Given the description of an element on the screen output the (x, y) to click on. 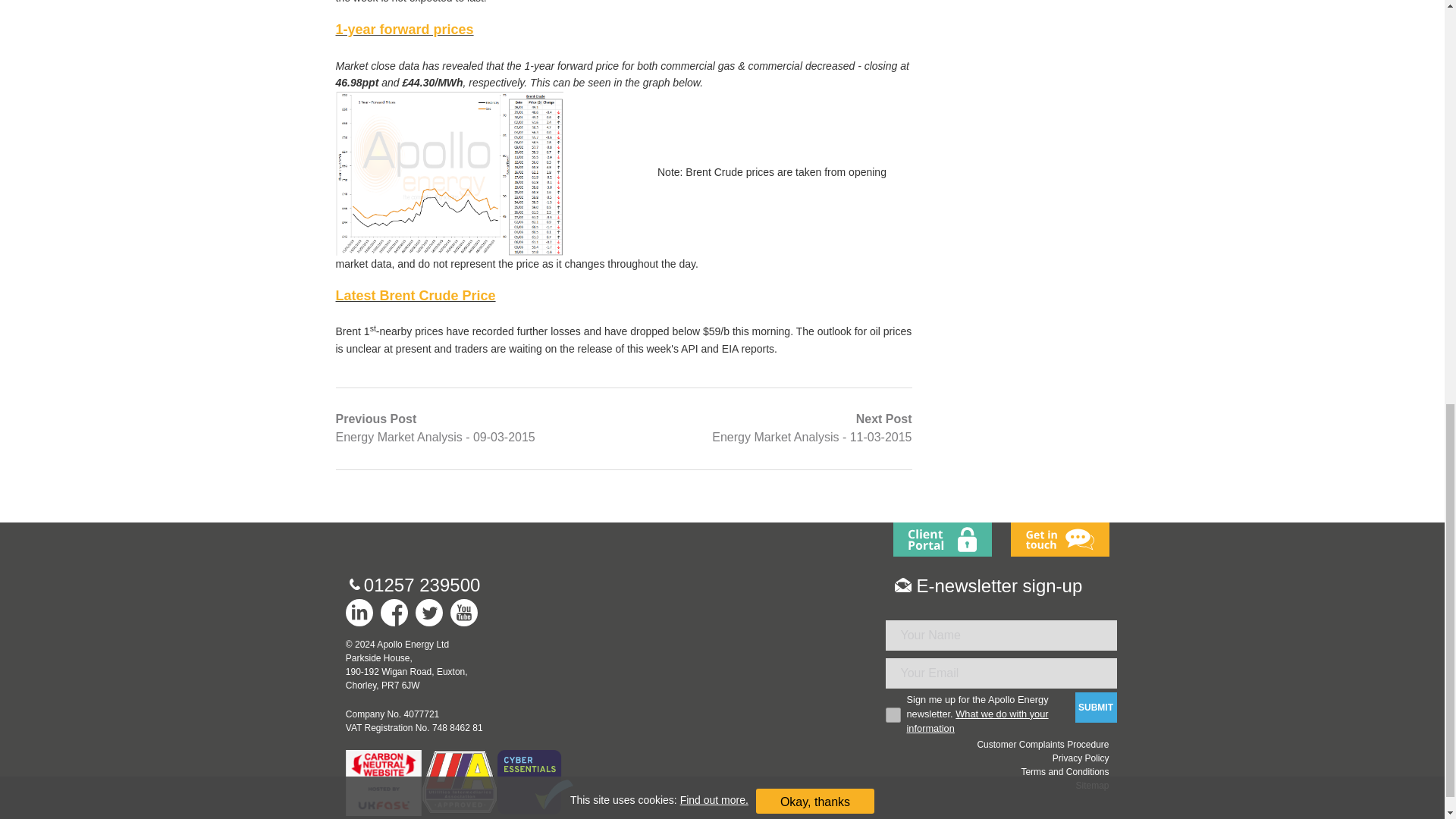
Get in touch (1059, 539)
Client Portal (942, 539)
